Given the description of an element on the screen output the (x, y) to click on. 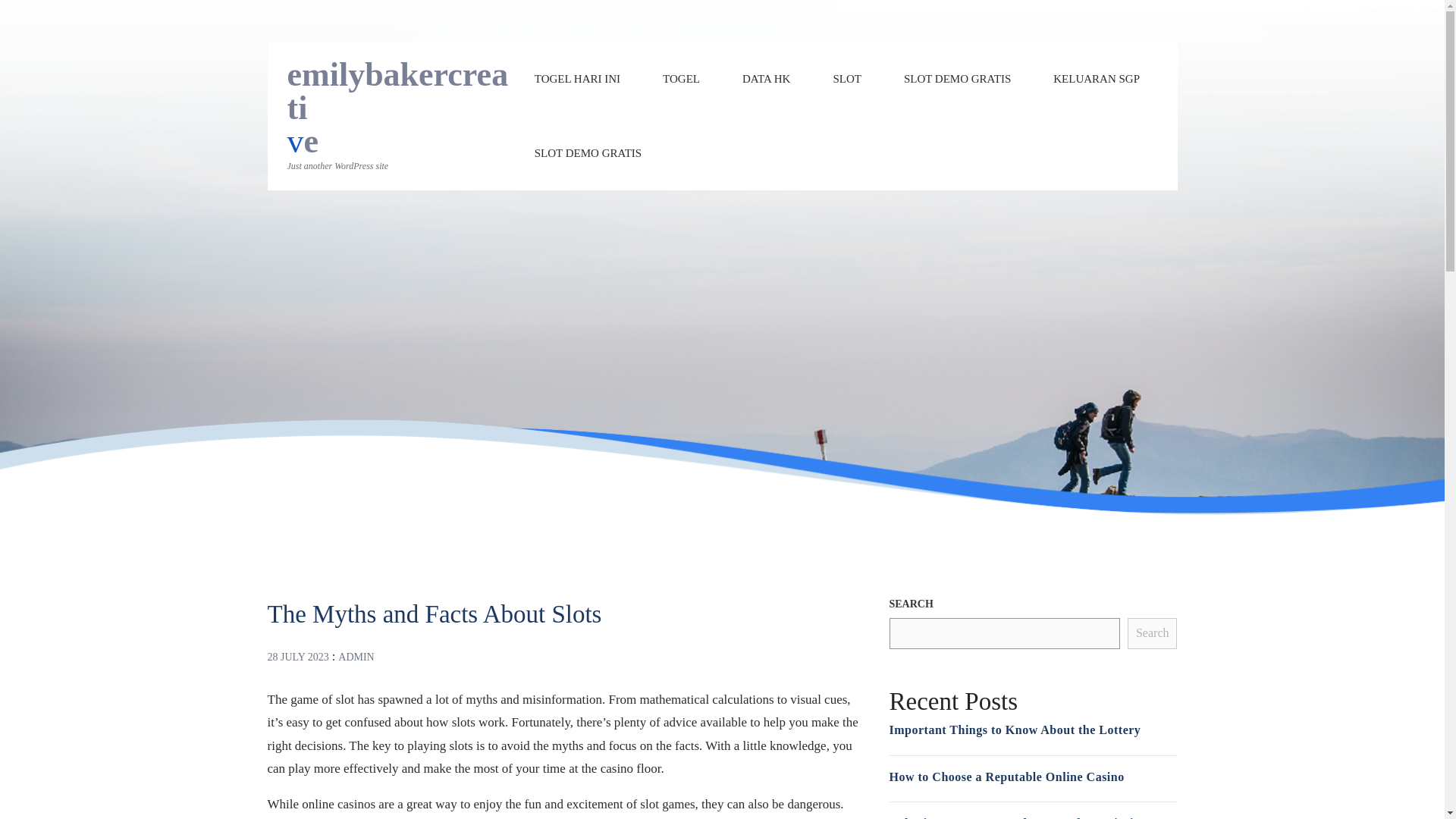
TOGEL HARI INI (577, 78)
SLOT DEMO GRATIS (588, 152)
28 JULY 2023 (297, 655)
Important Things to Know About the Lottery (1014, 729)
TOGEL (681, 78)
KELUARAN SGP (1096, 78)
ADMIN (355, 655)
Search (1151, 633)
SLOT (846, 78)
